Given the description of an element on the screen output the (x, y) to click on. 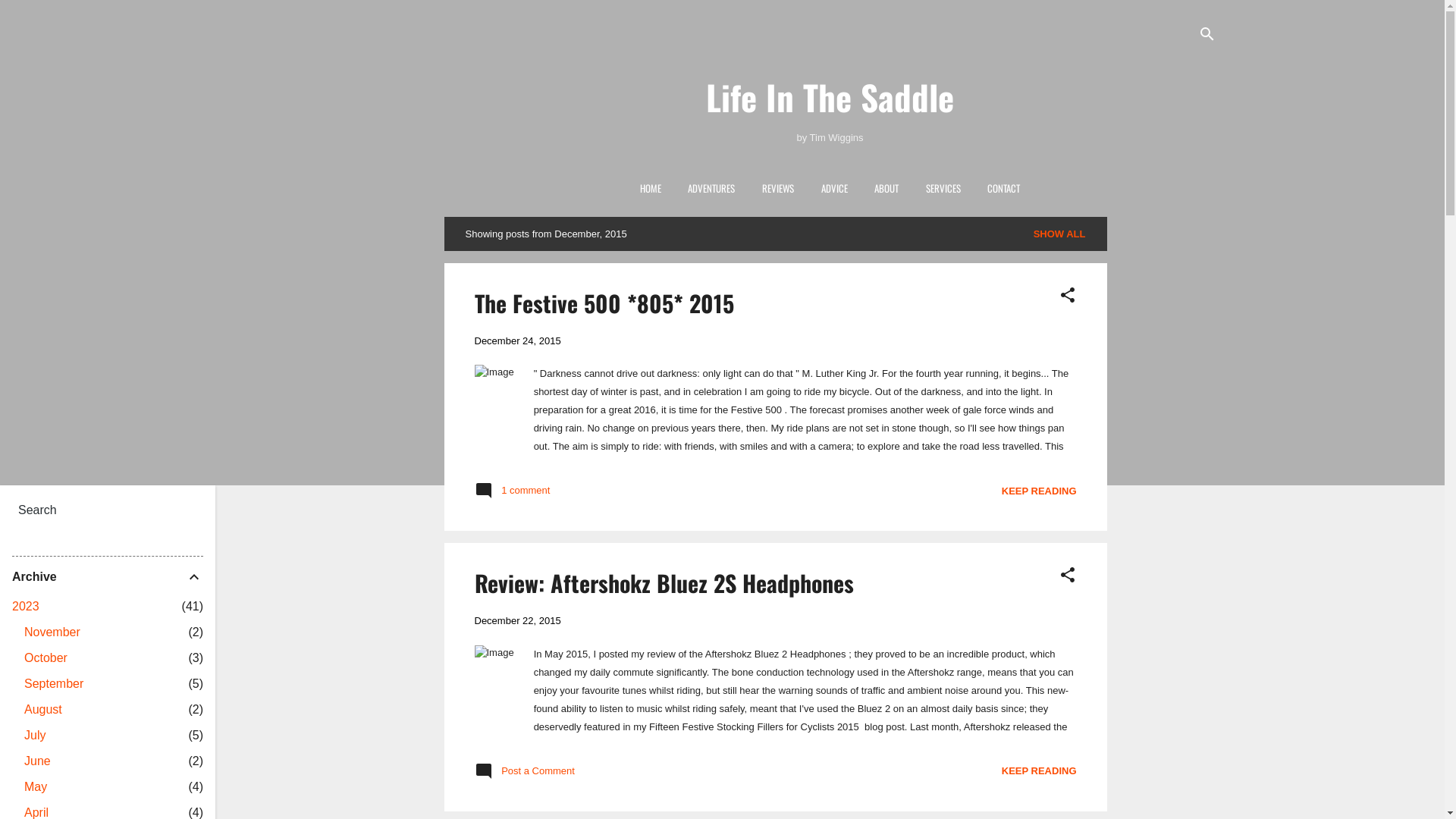
November
2 Element type: text (52, 631)
2023
41 Element type: text (25, 605)
ABOUT Element type: text (886, 187)
Advertisement Element type: hover (1167, 443)
Review: Aftershokz Bluez 2S Headphones Element type: text (663, 582)
ADVICE Element type: text (833, 187)
Life In The Saddle Element type: text (829, 96)
Post a Comment Element type: text (524, 776)
August
2 Element type: text (43, 708)
December 22, 2015 Element type: text (517, 620)
Type and hit enter Element type: hover (101, 510)
December 24, 2015 Element type: text (517, 340)
September
5 Element type: text (53, 683)
KEEP READING Element type: text (1038, 770)
HOME Element type: text (650, 187)
CONTACT Element type: text (1003, 187)
October
3 Element type: text (45, 657)
SHOW ALL Element type: text (1059, 233)
Search Element type: text (27, 18)
SERVICES Element type: text (942, 187)
July
5 Element type: text (34, 734)
The Festive 500 *805* 2015 Element type: text (604, 302)
1 comment Element type: text (512, 496)
REVIEWS Element type: text (778, 187)
May
4 Element type: text (35, 786)
ADVENTURES Element type: text (710, 187)
June
2 Element type: text (37, 760)
KEEP READING Element type: text (1038, 490)
